Given the description of an element on the screen output the (x, y) to click on. 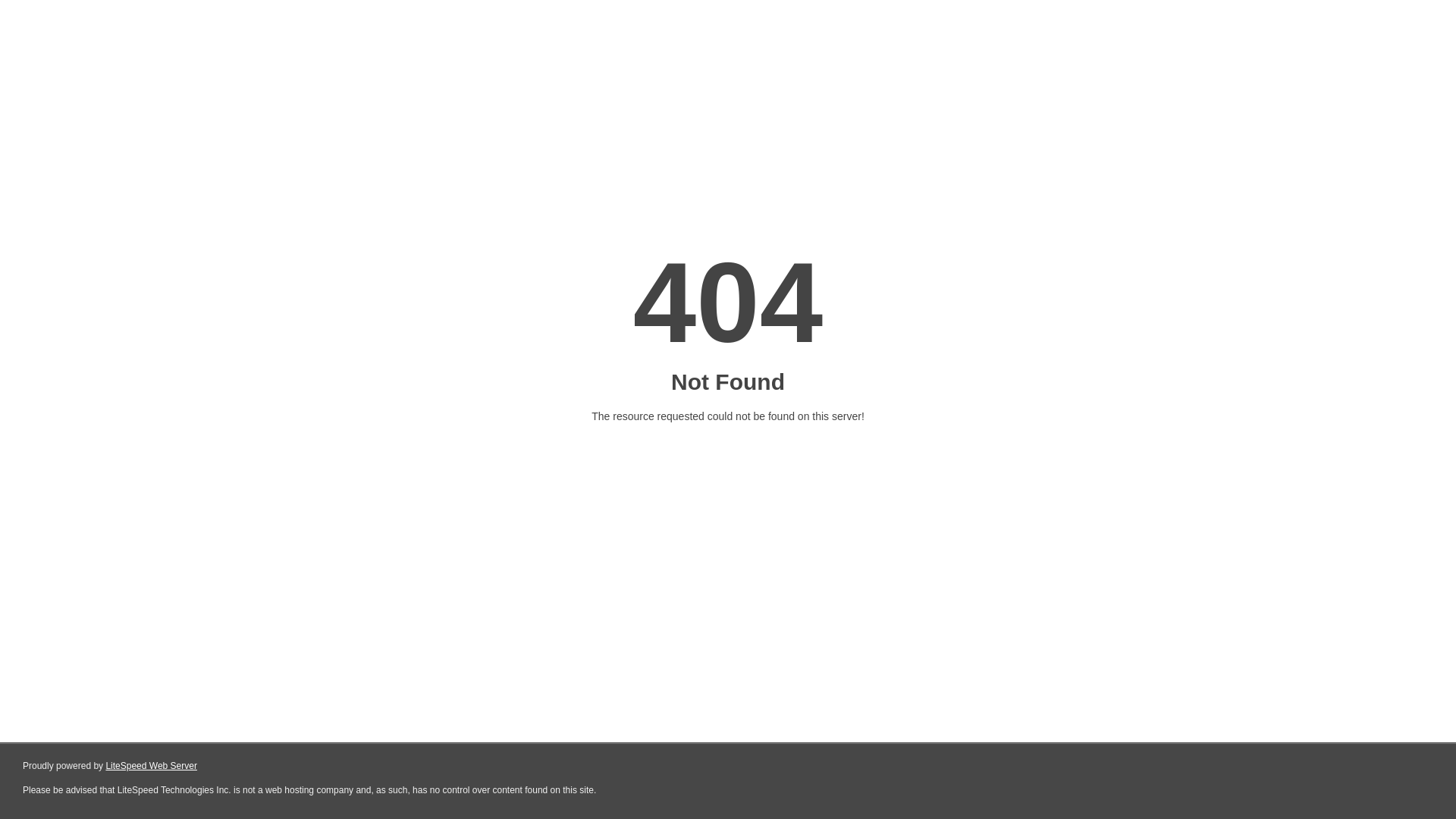
LiteSpeed Web Server Element type: text (151, 765)
